Given the description of an element on the screen output the (x, y) to click on. 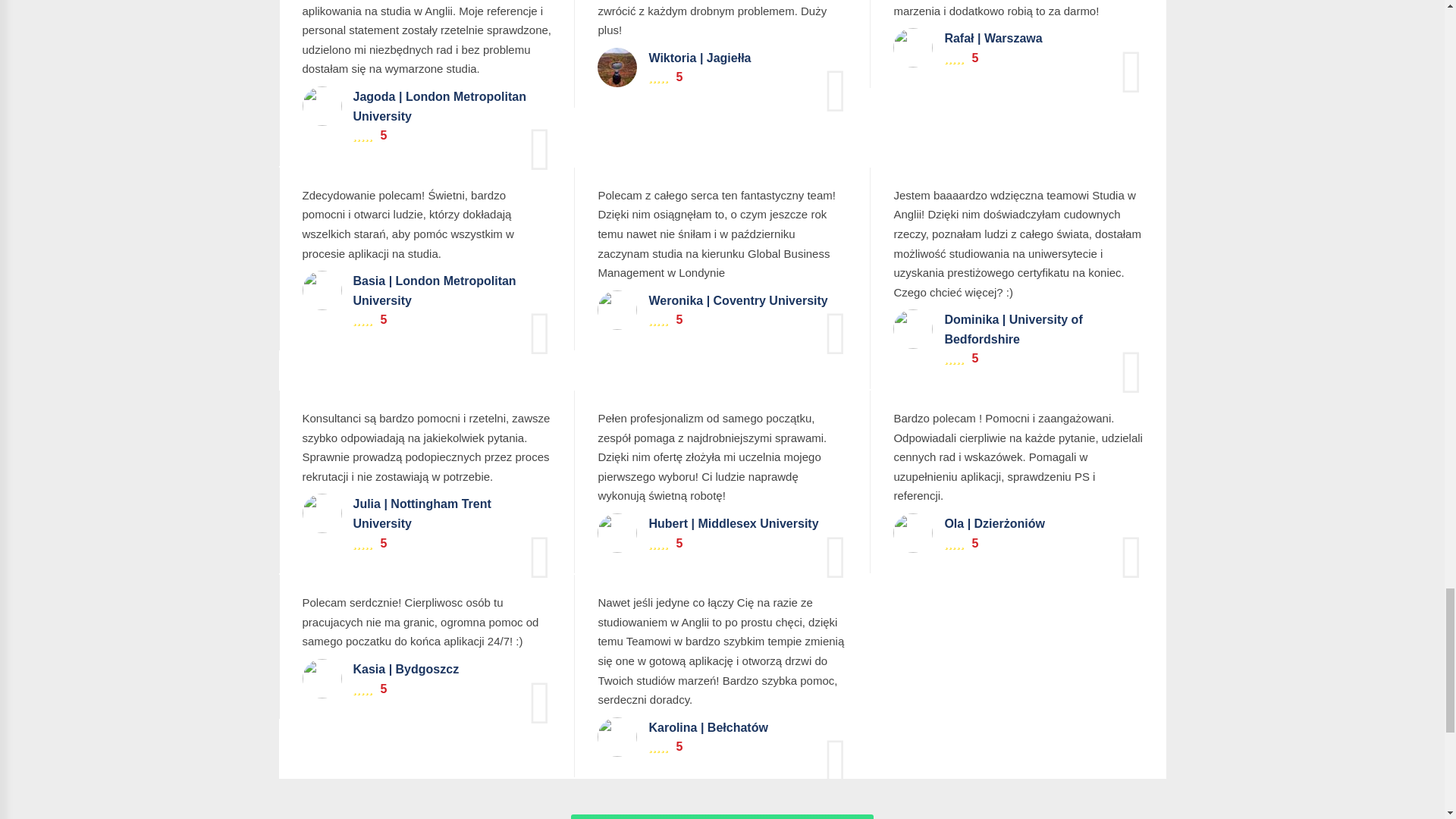
ROZPOCZNIJ PROCES REKRUTACJI (721, 816)
